Given the description of an element on the screen output the (x, y) to click on. 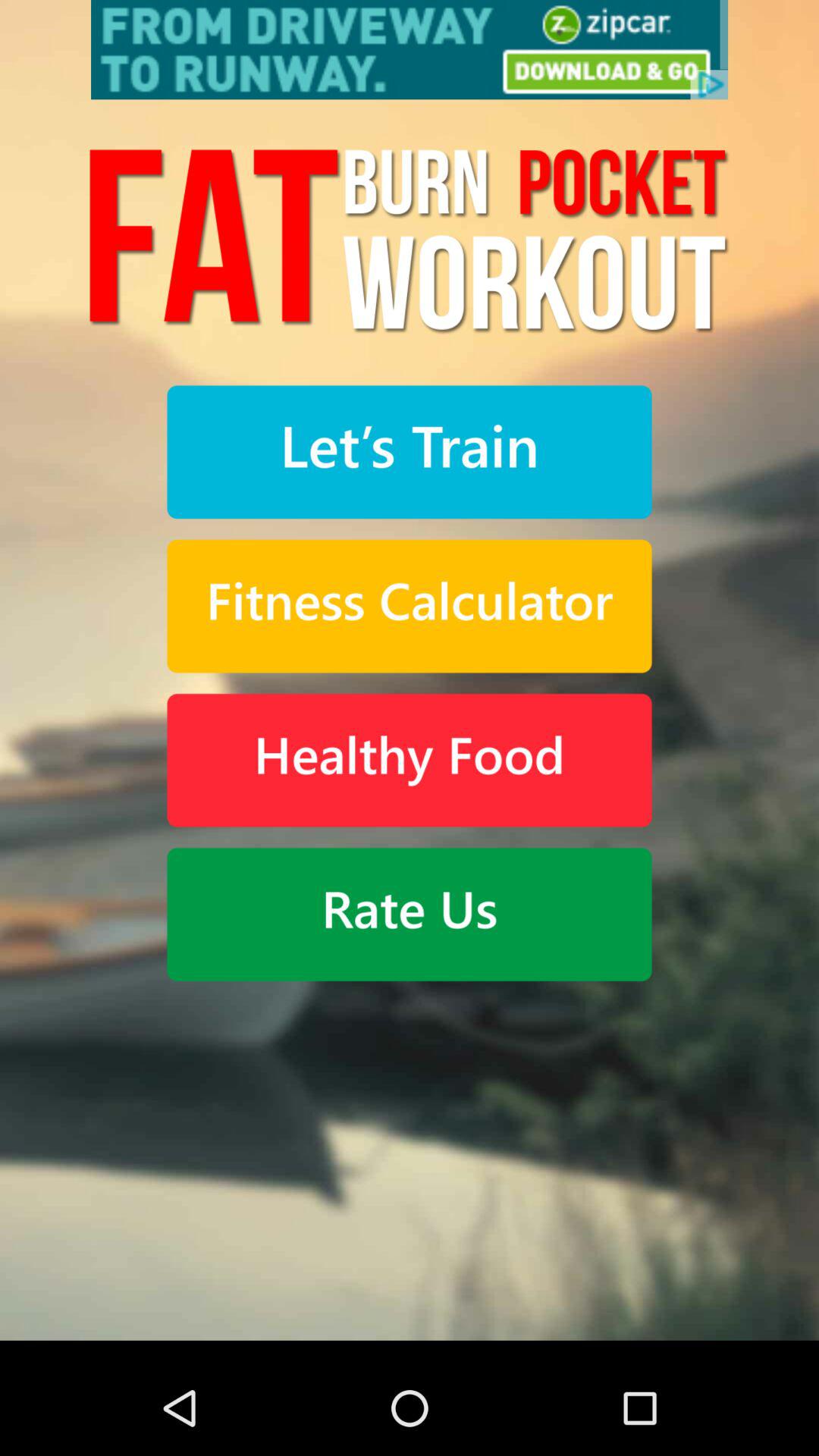
the button was made to start training (409, 452)
